Given the description of an element on the screen output the (x, y) to click on. 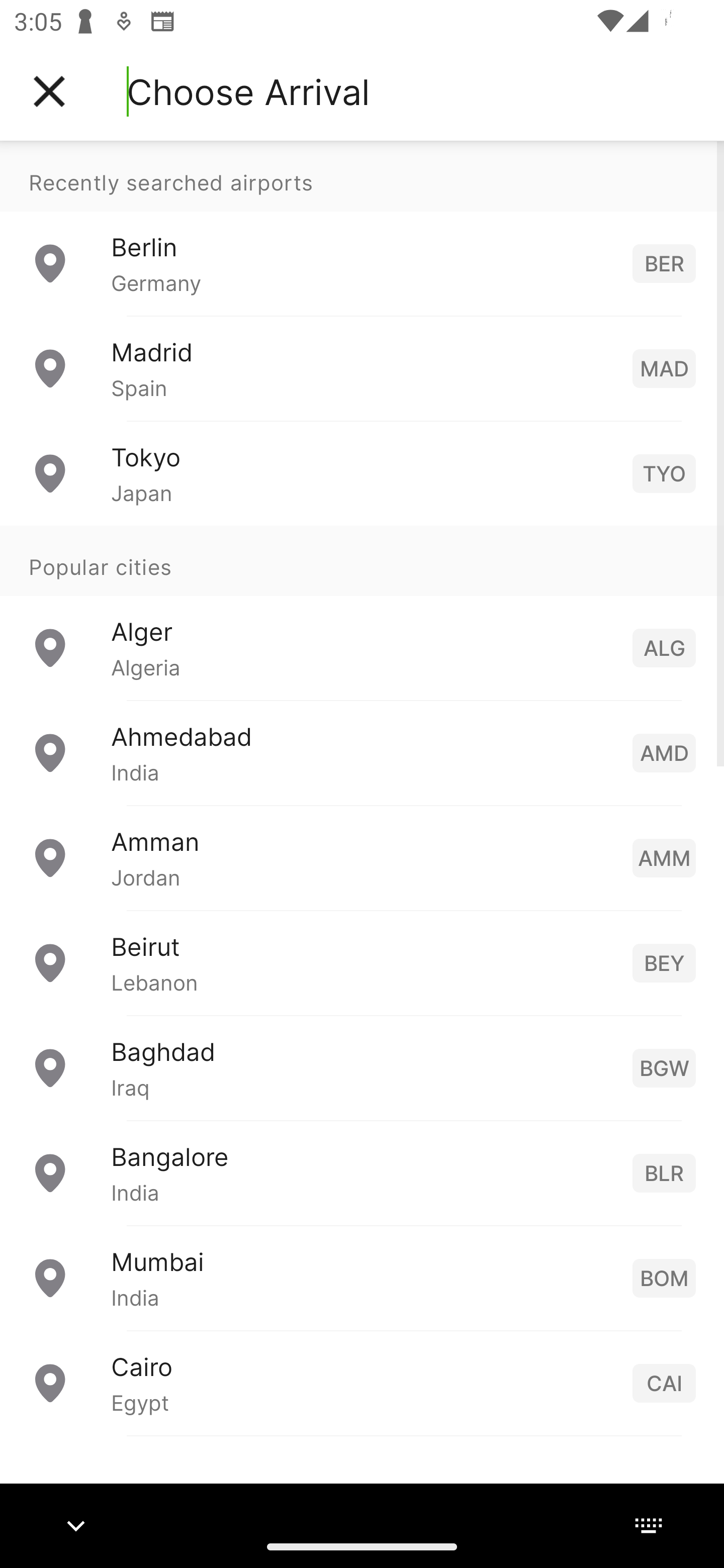
Choose Arrival (247, 91)
Recently searched airports Berlin Germany BER (362, 228)
Recently searched airports (362, 176)
Madrid Spain MAD (362, 367)
Tokyo Japan TYO (362, 472)
Popular cities Alger Algeria ALG (362, 612)
Popular cities (362, 560)
Ahmedabad India AMD (362, 751)
Amman Jordan AMM (362, 856)
Beirut Lebanon BEY (362, 961)
Baghdad Iraq BGW (362, 1066)
Bangalore India BLR (362, 1171)
Mumbai India BOM (362, 1276)
Cairo Egypt CAI (362, 1381)
